Given the description of an element on the screen output the (x, y) to click on. 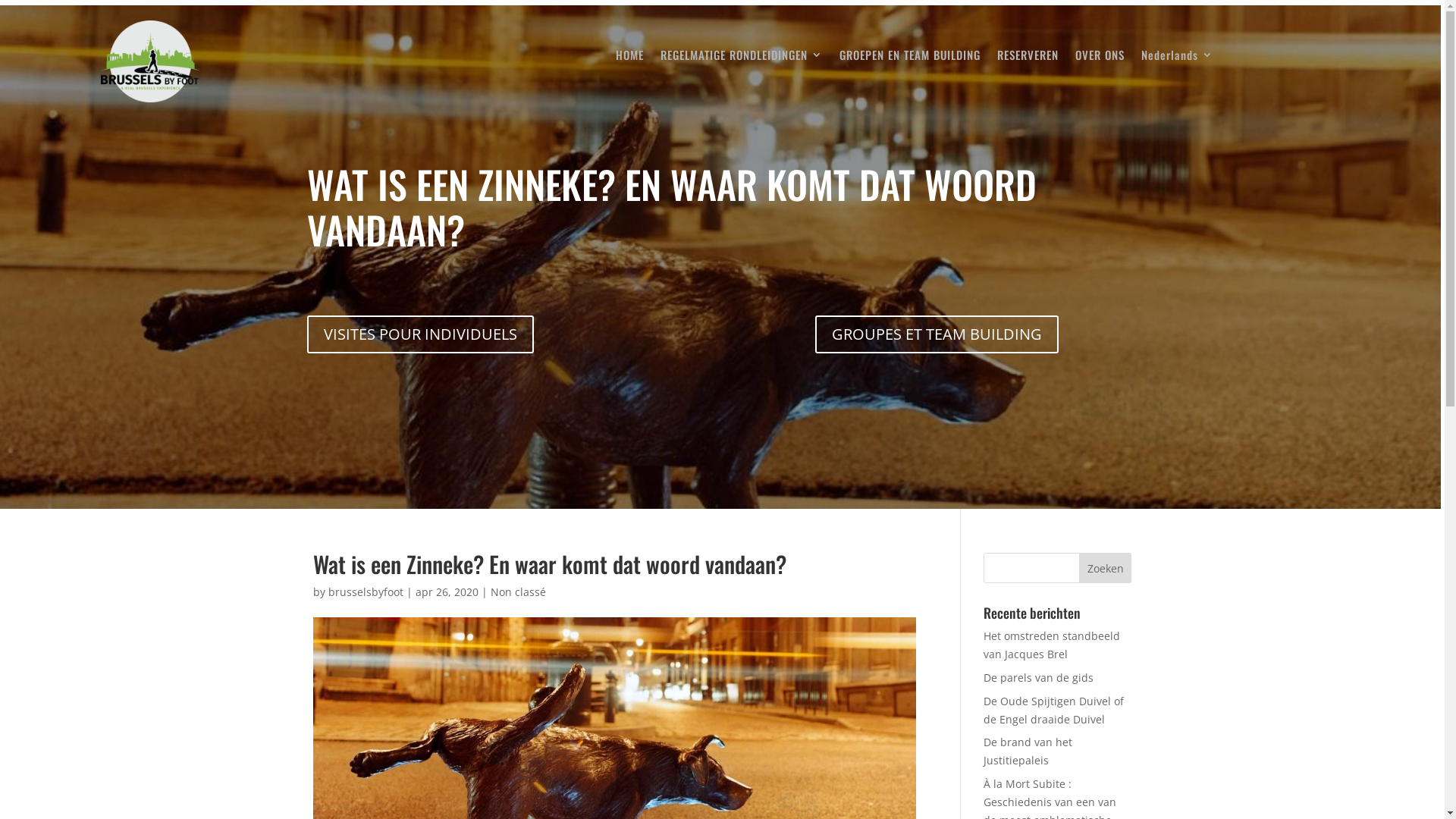
Het omstreden standbeeld van Jacques Brel Element type: text (1051, 644)
brusselsbyfoot Element type: text (364, 591)
De brand van het Justitiepaleis Element type: text (1027, 750)
OVER ONS Element type: text (1099, 57)
Skip to content Element type: text (0, 0)
REGELMATIGE RONDLEIDINGEN Element type: text (741, 57)
RESERVEREN Element type: text (1027, 57)
VISITES POUR INDIVIDUELS Element type: text (420, 334)
Nederlands Element type: text (1177, 57)
HOME Element type: text (629, 57)
GROEPEN EN TEAM BUILDING Element type: text (909, 57)
GROUPES ET TEAM BUILDING Element type: text (936, 334)
De Oude Spijtigen Duivel of de Engel draaide Duivel Element type: text (1053, 709)
De parels van de gids Element type: text (1038, 677)
Zoeken Element type: text (1105, 567)
